Given the description of an element on the screen output the (x, y) to click on. 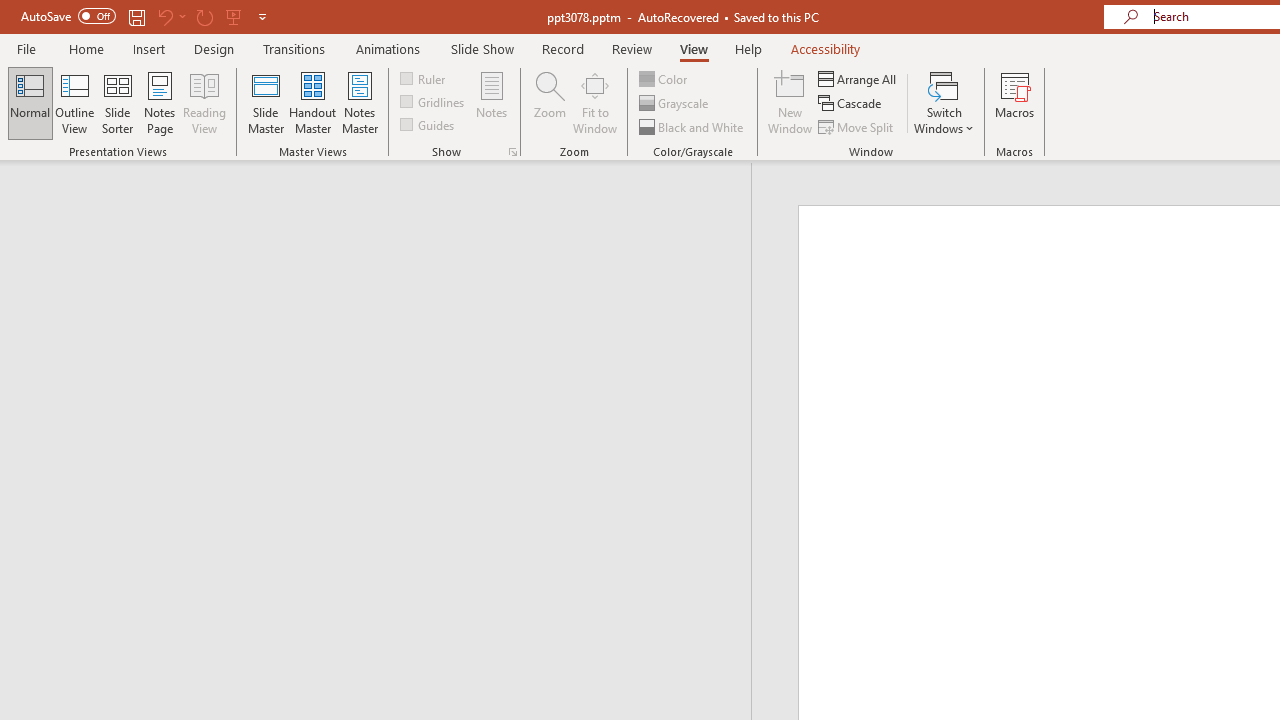
Notes (492, 102)
Handout Master (312, 102)
Switch Windows (943, 102)
Ruler (423, 78)
Black and White (693, 126)
Zoom... (549, 102)
Notes Master (360, 102)
